Given the description of an element on the screen output the (x, y) to click on. 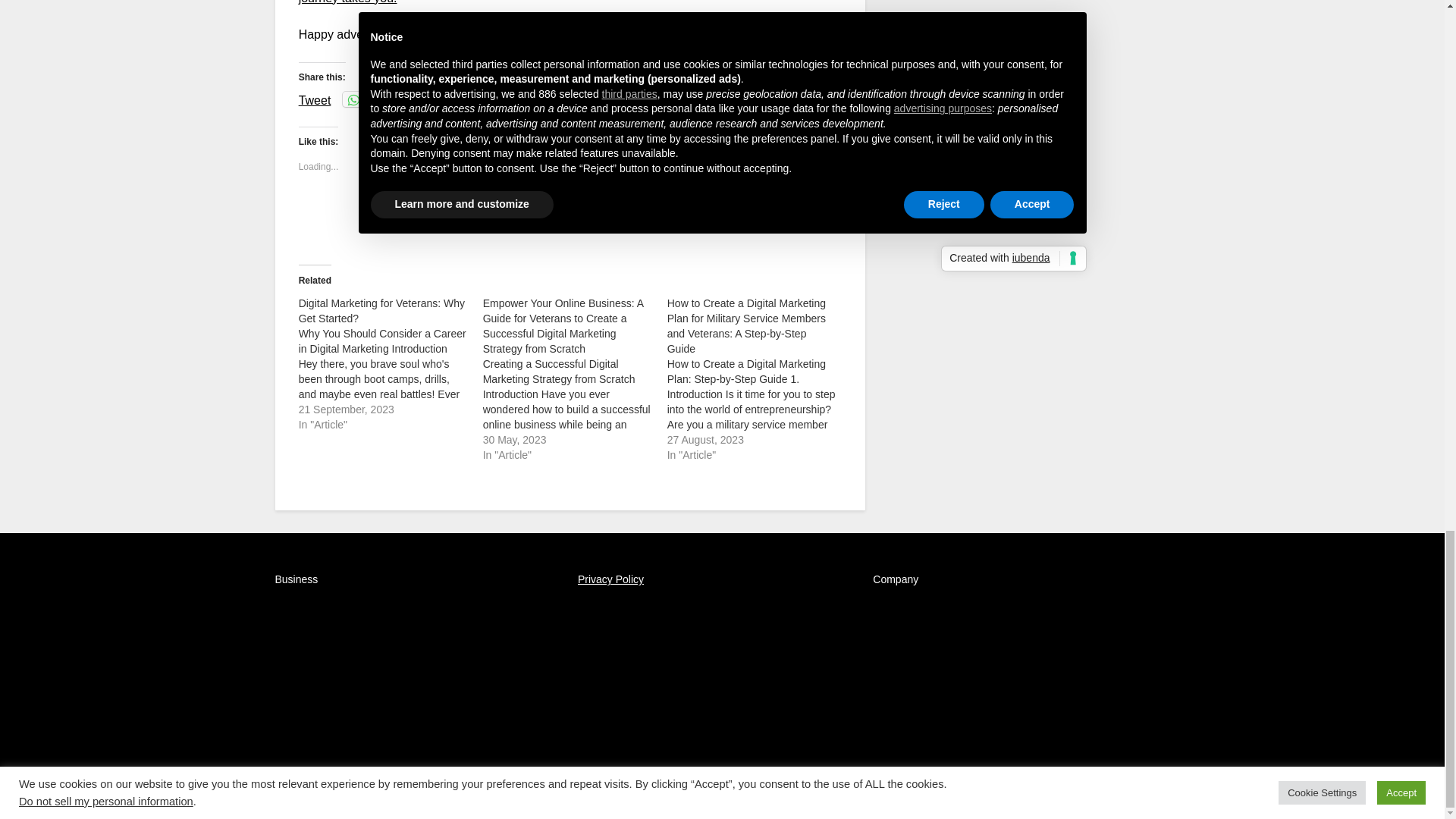
Digital Marketing for Veterans: Why Get Started? (390, 363)
Tweet (314, 98)
Digital Marketing for Veterans: Why Get Started? (381, 310)
WhatsApp (375, 99)
Digital Marketing for Veterans: Why Get Started? (381, 310)
Telegram (445, 99)
Privacy Policy  (610, 579)
Click to share on Telegram (445, 99)
Click to share on WhatsApp (375, 99)
